Given the description of an element on the screen output the (x, y) to click on. 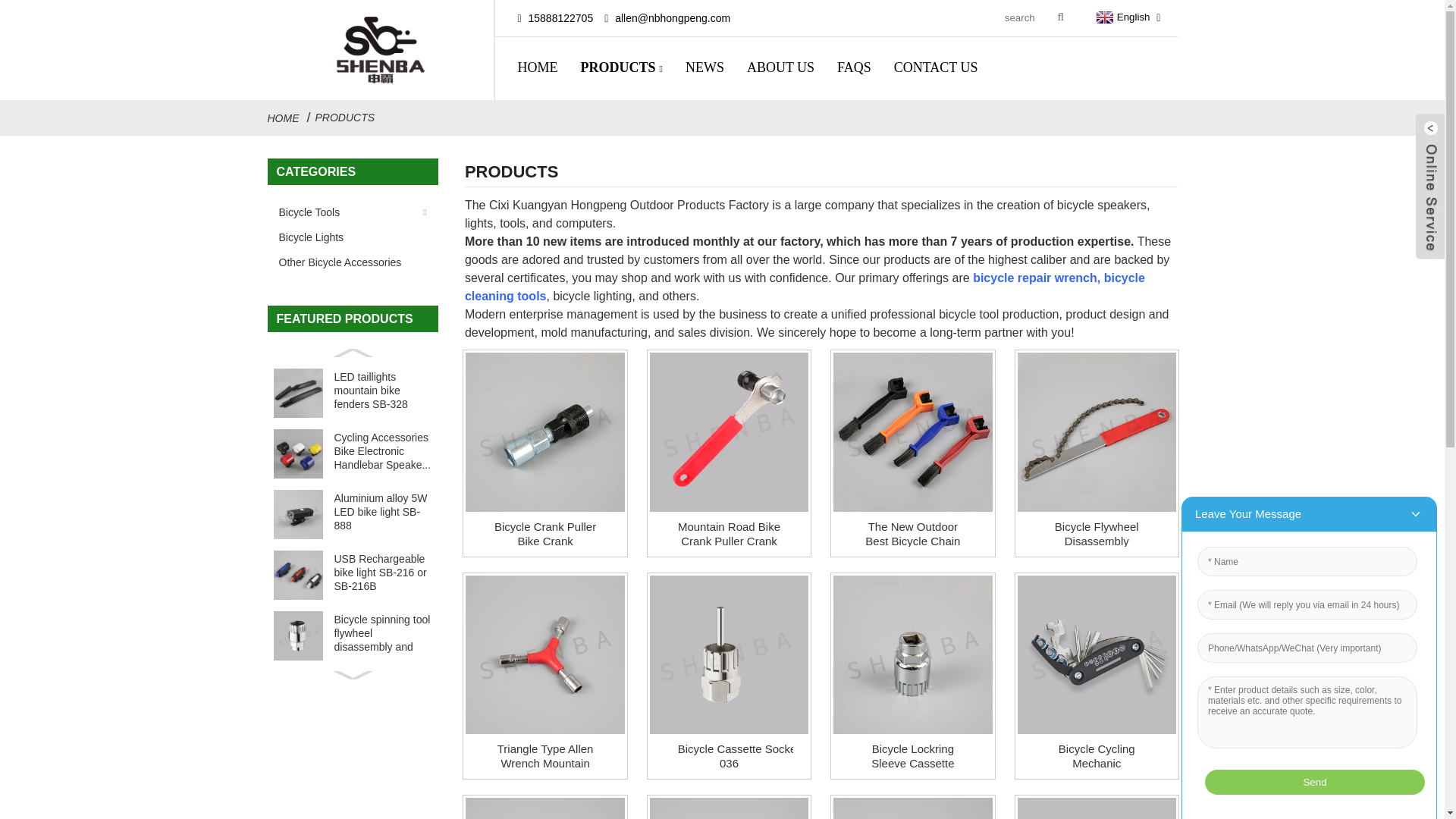
English (1121, 17)
